Given the description of an element on the screen output the (x, y) to click on. 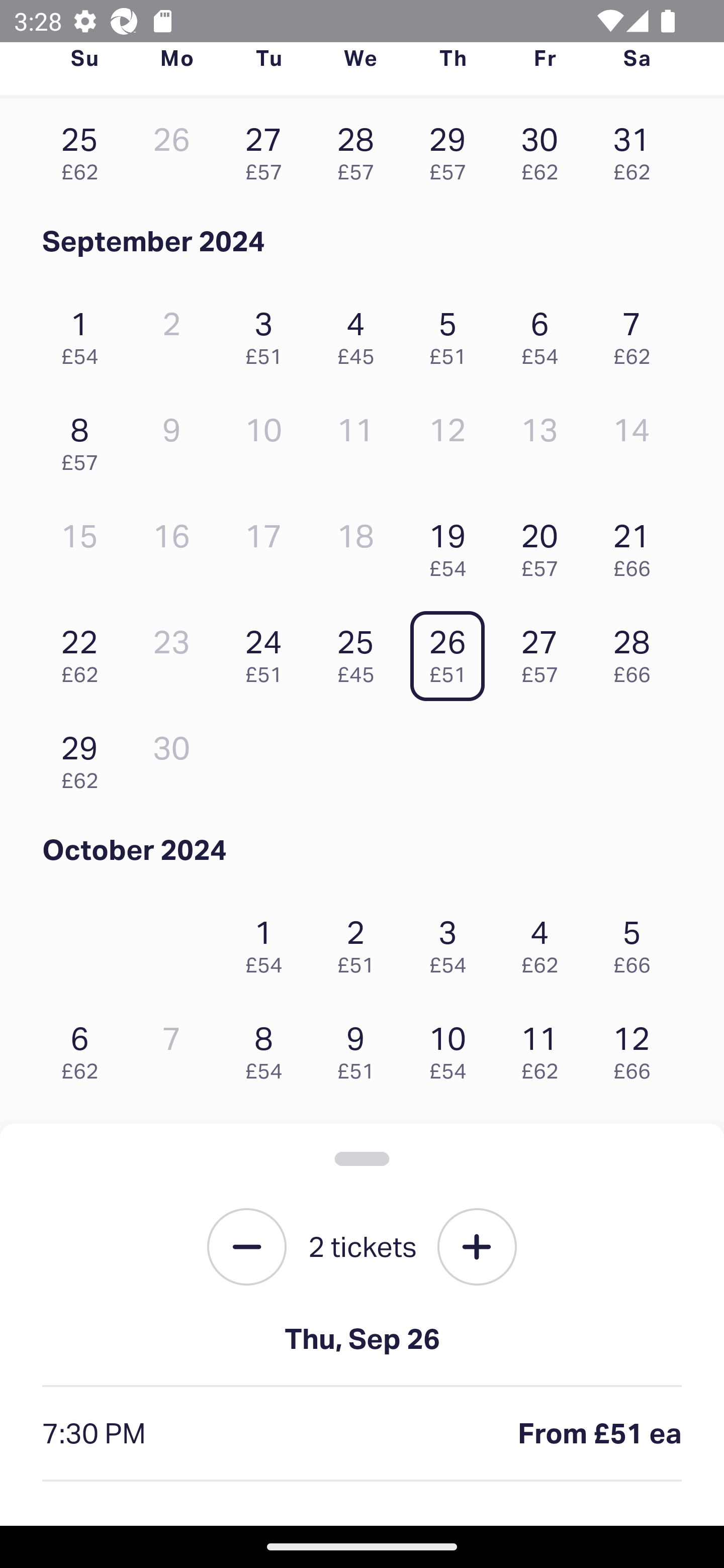
25 £62 (84, 148)
27 £57 (268, 148)
28 £57 (360, 148)
29 £57 (452, 148)
30 £62 (544, 148)
31 £62 (636, 148)
1 £54 (84, 332)
3 £51 (268, 332)
4 £45 (360, 332)
5 £51 (452, 332)
6 £54 (544, 332)
7 £62 (636, 332)
8 £57 (84, 439)
19 £54 (452, 544)
20 £57 (544, 544)
21 £66 (636, 544)
22 £62 (84, 651)
24 £51 (268, 651)
25 £45 (360, 651)
26 £51 (452, 651)
27 £57 (544, 651)
28 £66 (636, 651)
29 £62 (84, 757)
1 £54 (268, 941)
2 £51 (360, 941)
3 £54 (452, 941)
4 £62 (544, 941)
5 £66 (636, 941)
6 £62 (84, 1047)
8 £54 (268, 1047)
9 £51 (360, 1047)
10 £54 (452, 1047)
11 £62 (544, 1047)
12 £66 (636, 1047)
16 £54 (360, 1153)
7:30 PM From £51 ea (361, 1434)
